Given the description of an element on the screen output the (x, y) to click on. 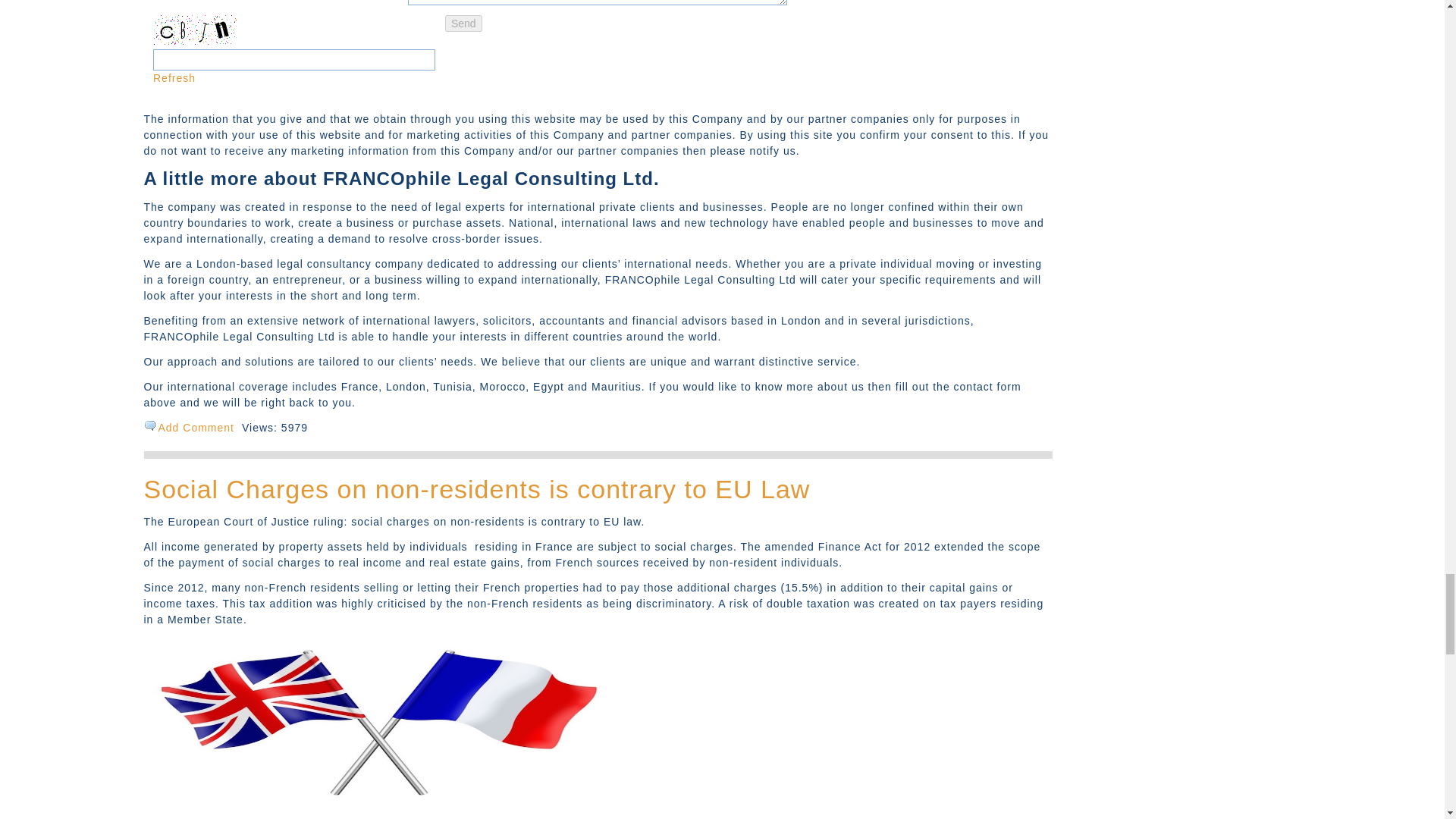
Send (463, 23)
Cle France blog pages (379, 802)
